Given the description of an element on the screen output the (x, y) to click on. 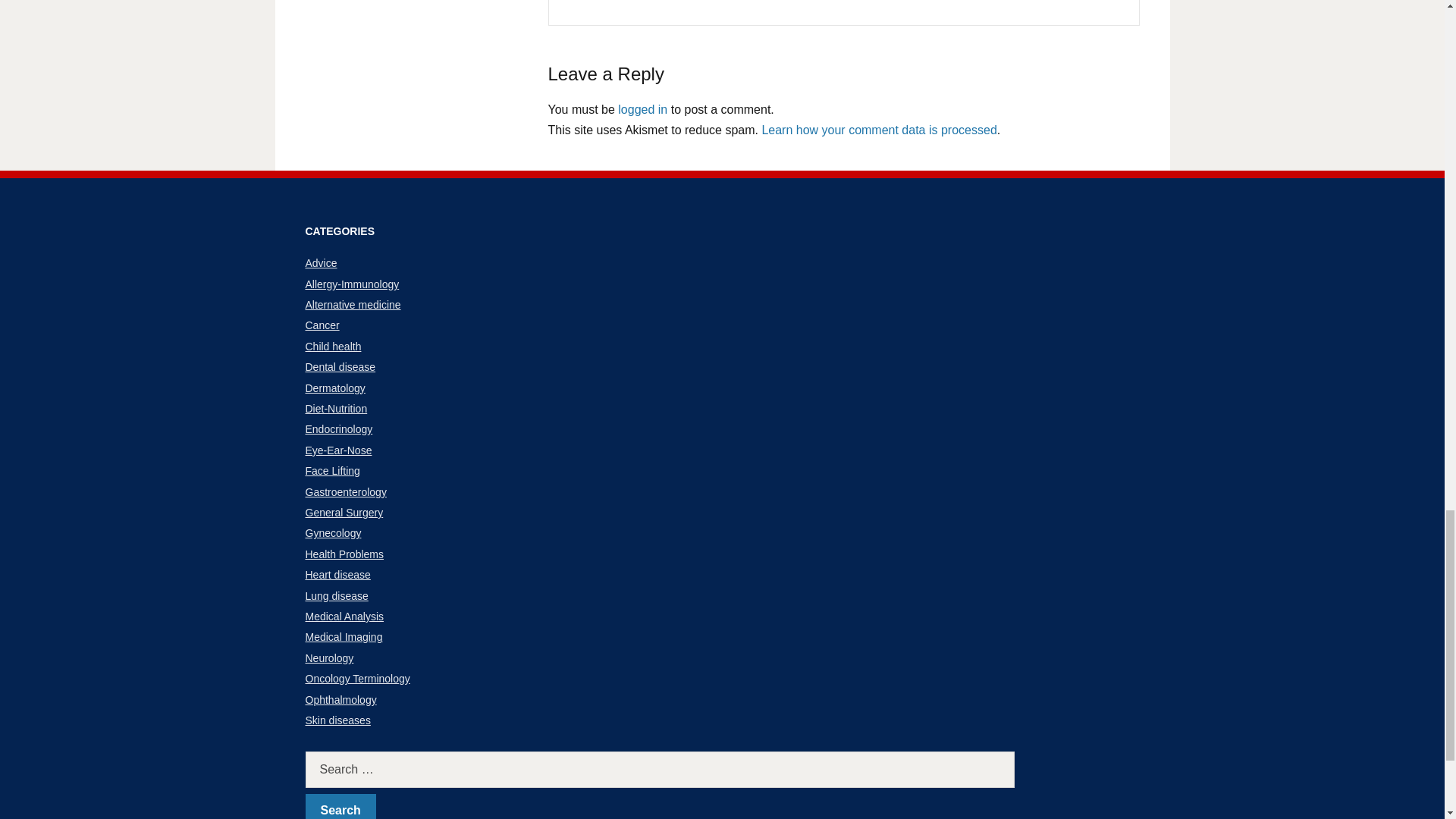
logged in (641, 109)
Learn how your comment data is processed (878, 129)
Search (339, 806)
Search (339, 806)
